Given the description of an element on the screen output the (x, y) to click on. 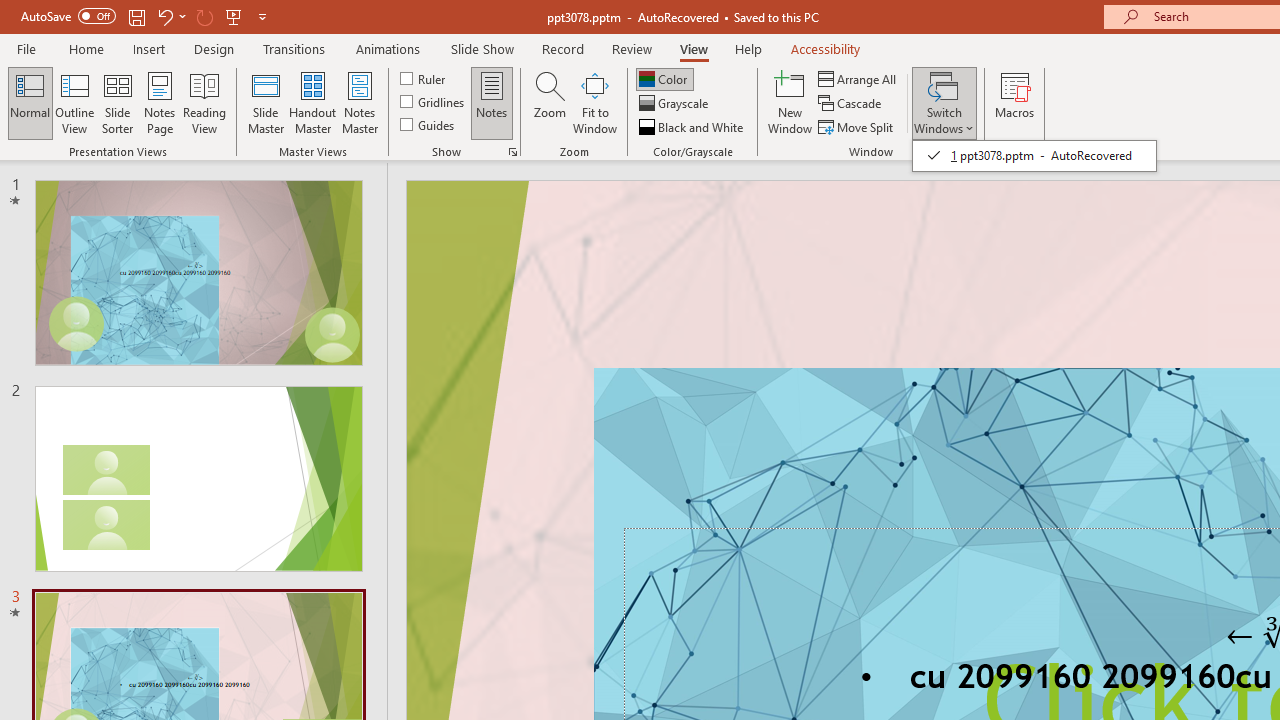
Grid Settings... (512, 151)
Macros (1014, 102)
Ruler (423, 78)
Outline View (74, 102)
Gridlines (433, 101)
